Given the description of an element on the screen output the (x, y) to click on. 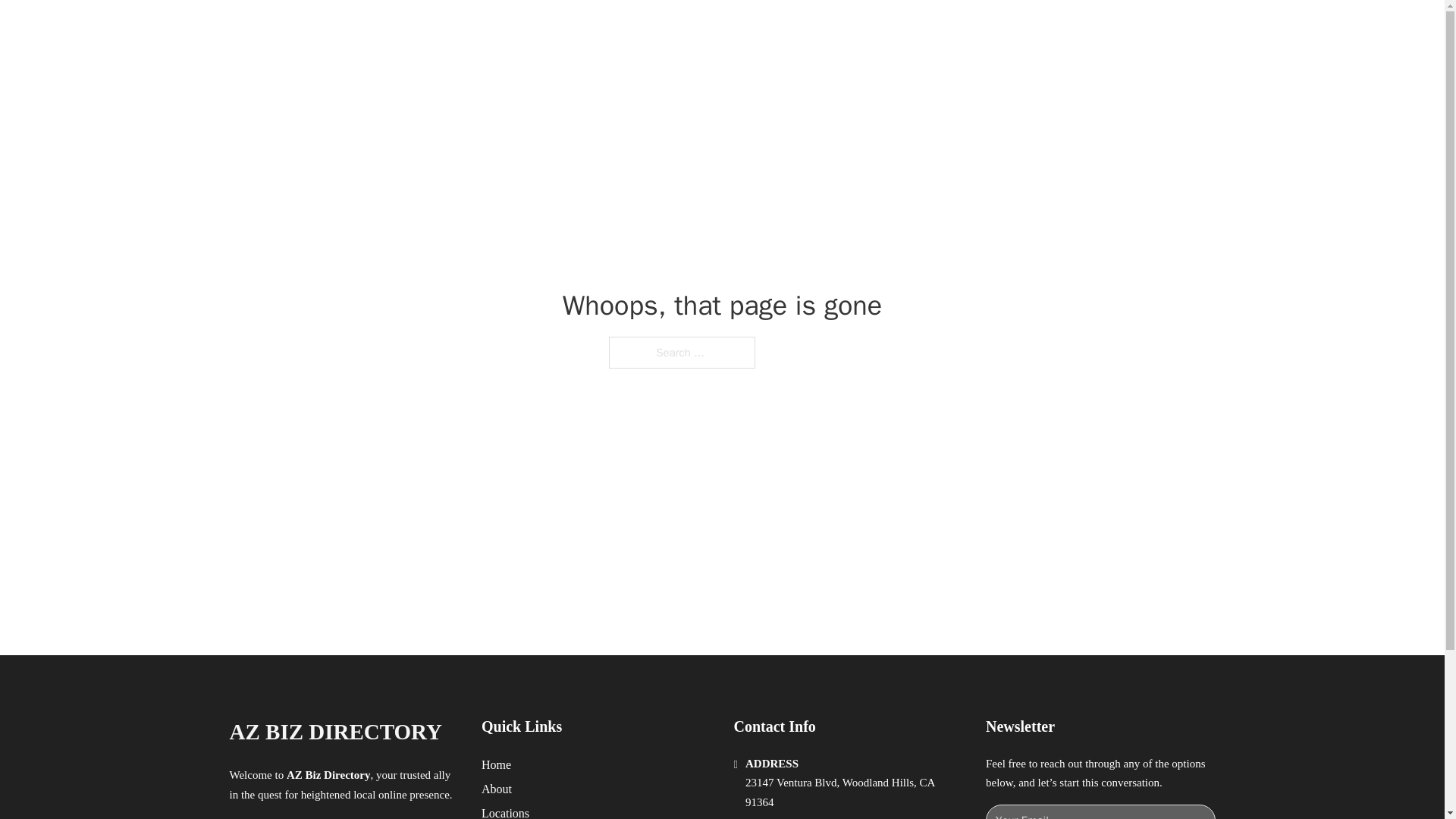
AZ BIZ DIRECTORY (334, 732)
HOME (919, 29)
AZ BIZ DIRECTORY (403, 28)
About (496, 788)
Locations (505, 811)
Home (496, 764)
LOCATIONS (990, 29)
